Given the description of an element on the screen output the (x, y) to click on. 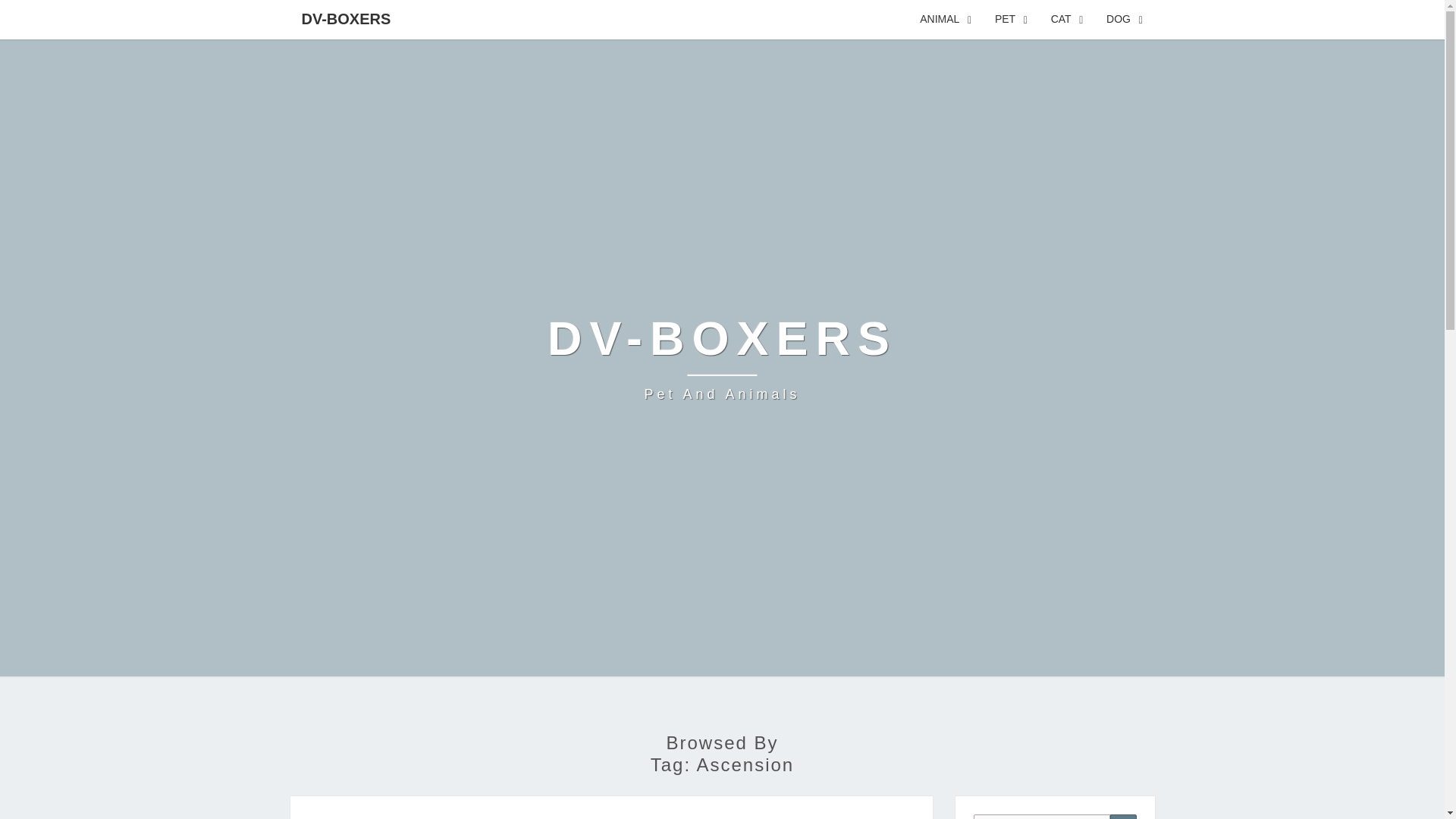
Search for: (1041, 816)
DOG (1124, 19)
Search (1123, 816)
DV-Boxers (721, 357)
CAT (721, 357)
PET (1066, 19)
DV-BOXERS (1011, 19)
ANIMAL (345, 18)
